Given the description of an element on the screen output the (x, y) to click on. 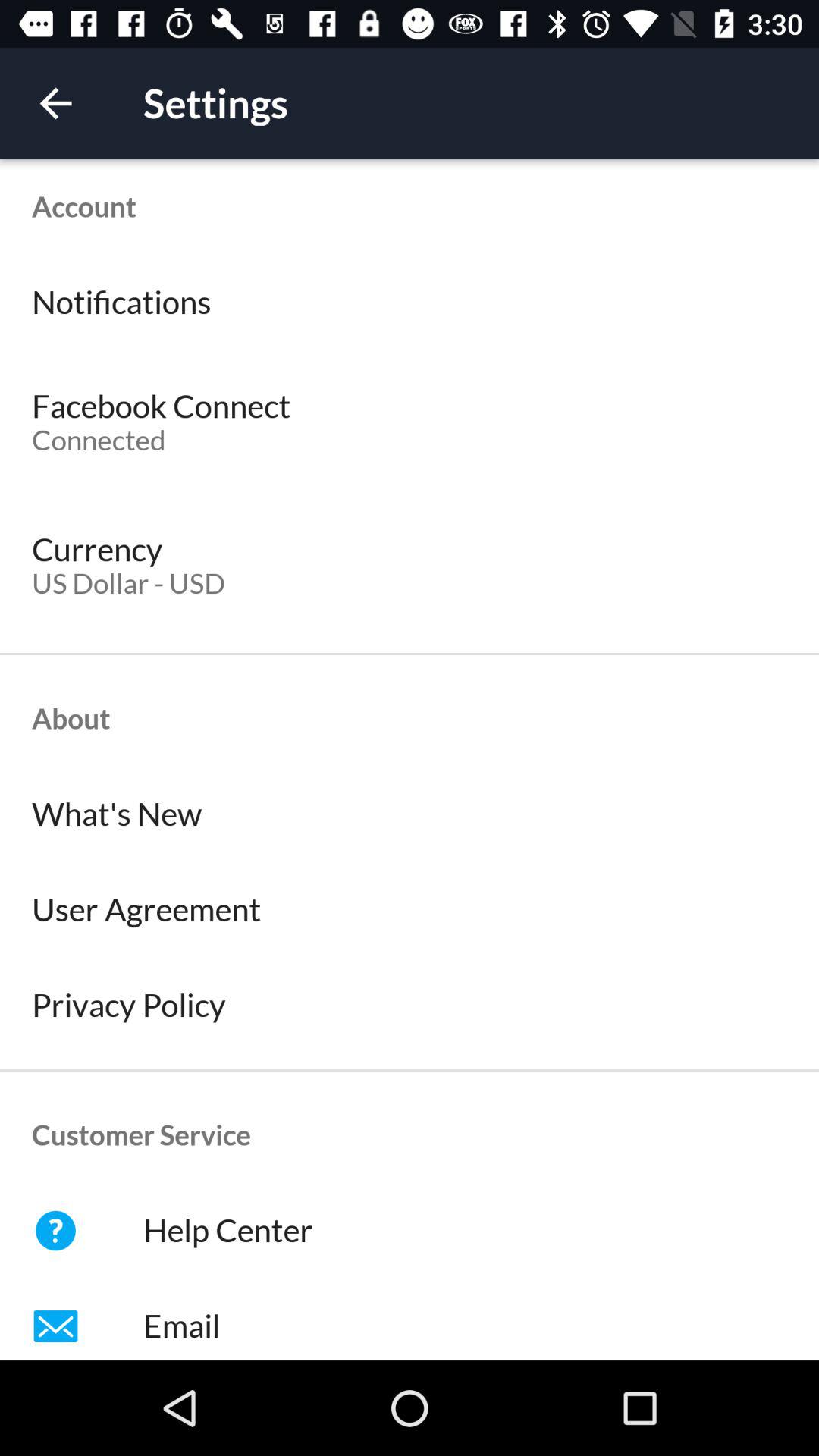
select icon to the left of the settings item (55, 103)
